Given the description of an element on the screen output the (x, y) to click on. 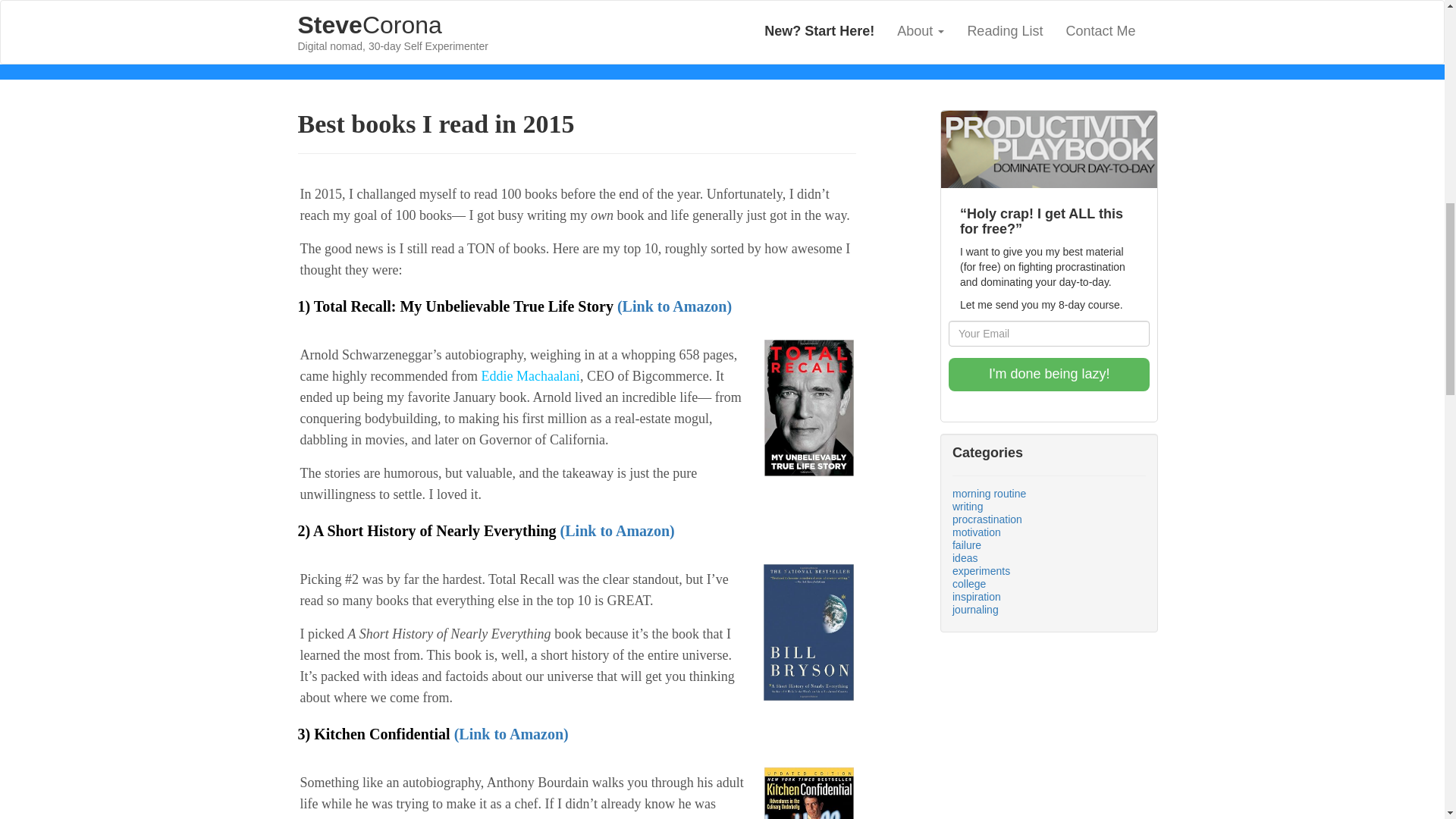
About (920, 30)
Contact Me (1100, 30)
I'm done being lazy! (1049, 374)
Reading List (1004, 30)
morning routine (989, 493)
New? Start Here! (392, 19)
Eddie Machaalani (818, 30)
